Given the description of an element on the screen output the (x, y) to click on. 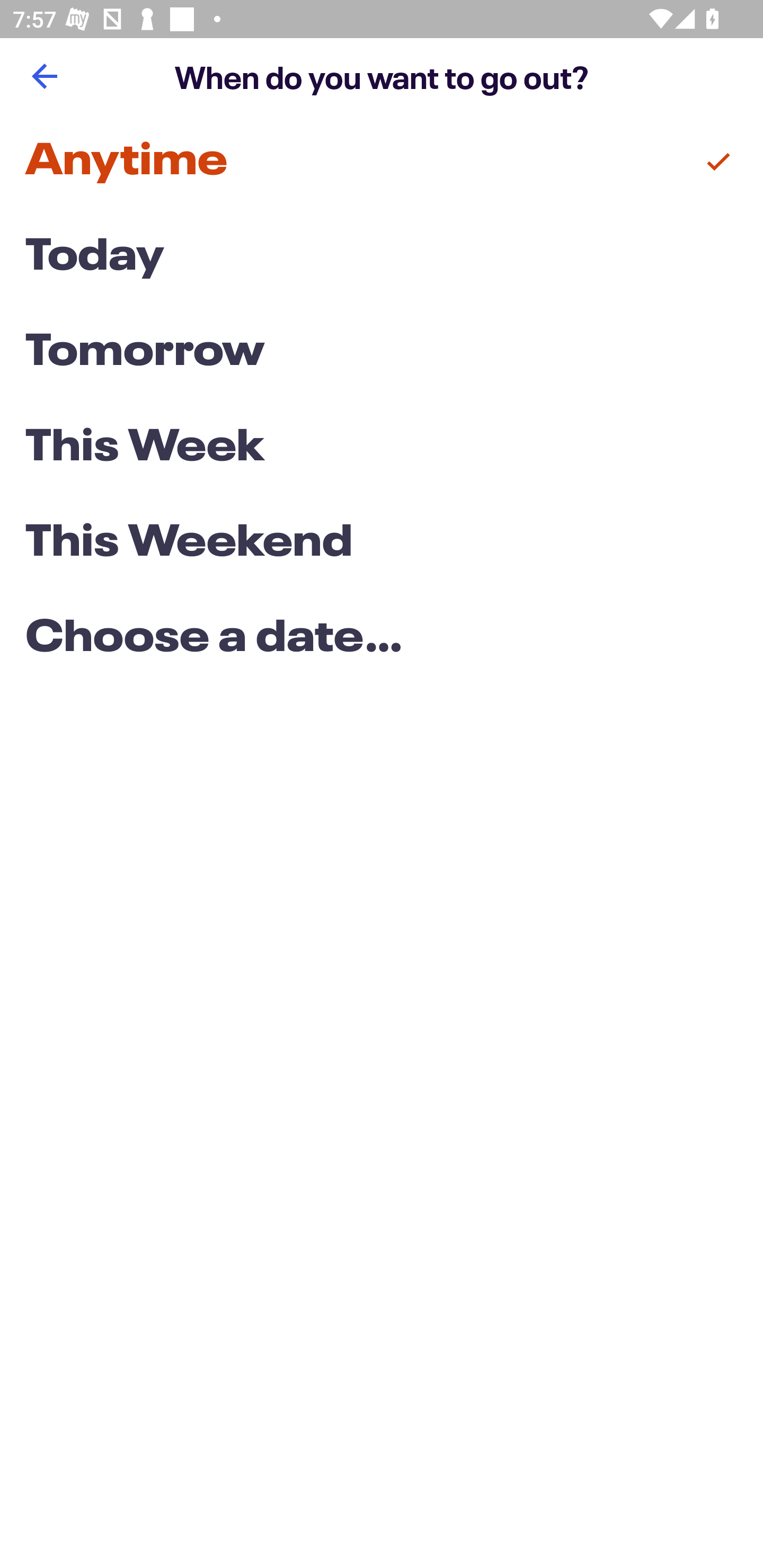
Back button (44, 75)
Anytime (381, 161)
Today (381, 257)
Tomorrow (381, 352)
This Week (381, 447)
This Weekend (381, 542)
Choose a date… (381, 638)
